Given the description of an element on the screen output the (x, y) to click on. 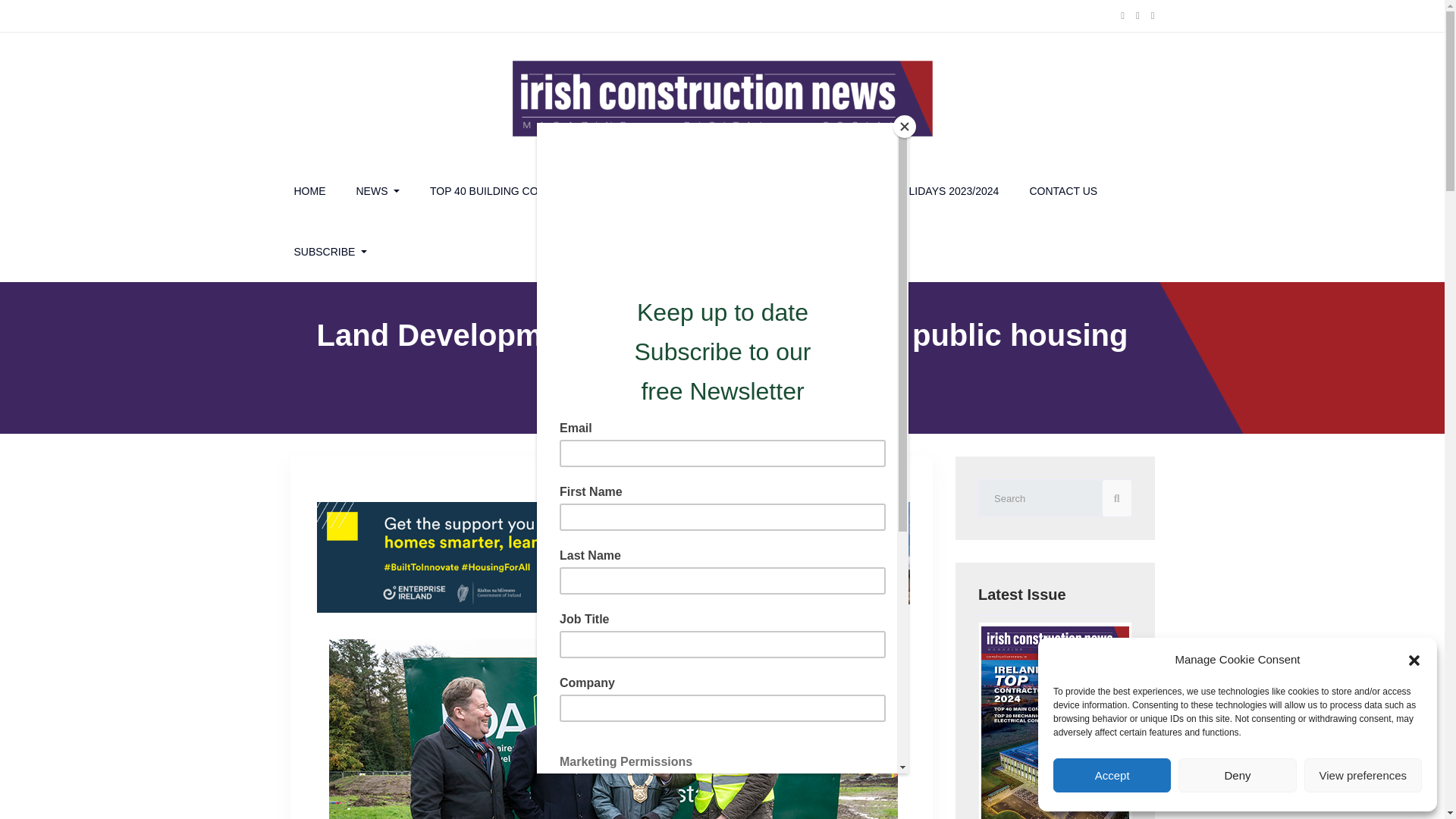
Accept (1111, 775)
Twitter (1137, 15)
Deny (1236, 775)
Latest Issue (1055, 722)
Facebook (1122, 15)
Linked In (1152, 15)
View preferences (1363, 775)
